Given the description of an element on the screen output the (x, y) to click on. 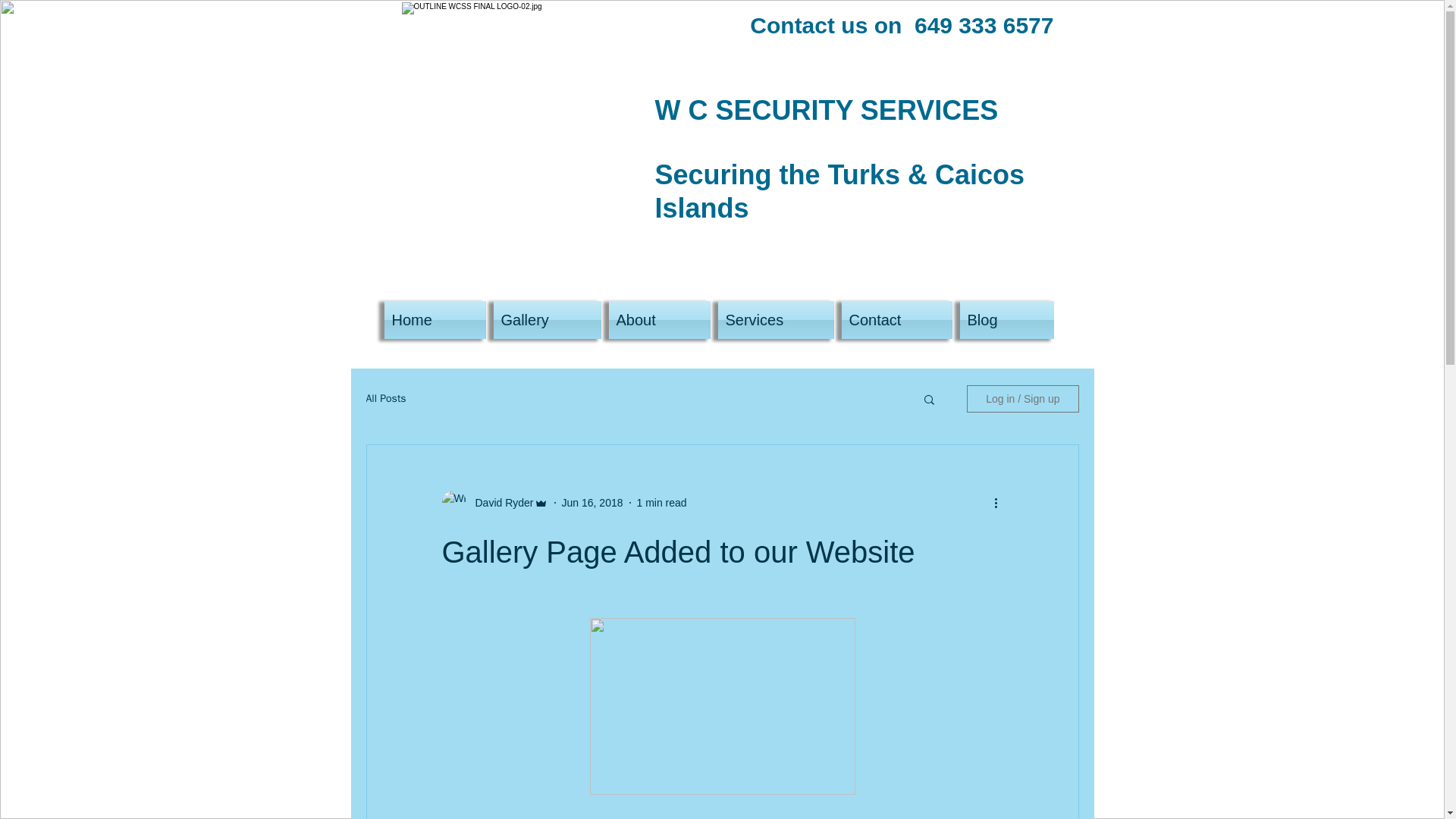
Services (776, 320)
David Ryder (498, 502)
Gallery (547, 320)
1 min read (662, 501)
Blog (1003, 320)
About (659, 320)
Jun 16, 2018 (592, 501)
Contact (896, 320)
All Posts (385, 398)
Home (436, 320)
